Given the description of an element on the screen output the (x, y) to click on. 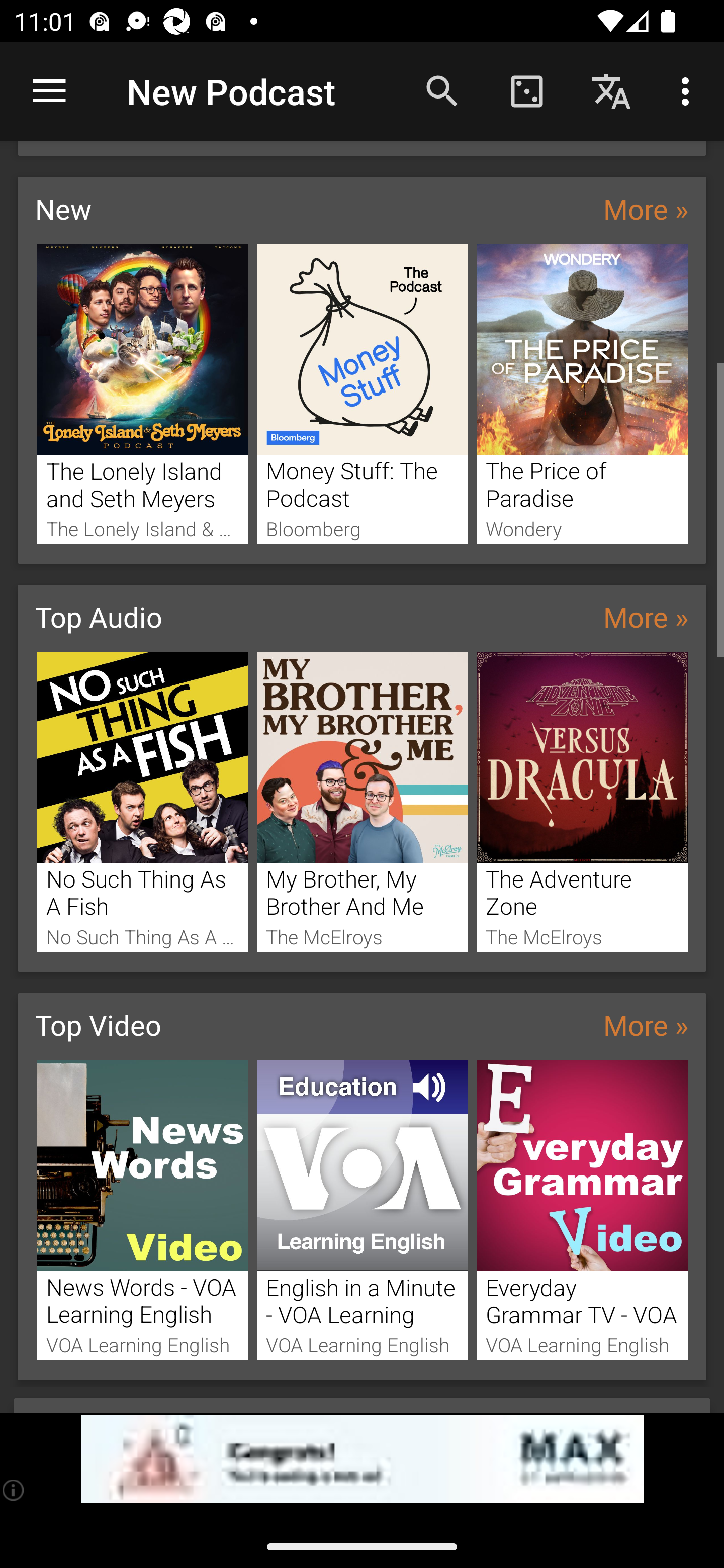
Open navigation sidebar (49, 91)
Search (442, 90)
Random pick (526, 90)
Podcast languages (611, 90)
More options (688, 90)
More » (645, 208)
Money Stuff: The Podcast Bloomberg (362, 393)
The Price of Paradise Wondery (581, 393)
More » (645, 616)
No Such Thing As A Fish (142, 801)
My Brother, My Brother And Me The McElroys (362, 801)
The Adventure Zone The McElroys (581, 801)
More » (645, 1024)
app-monetization (362, 1459)
(i) (14, 1489)
